Given the description of an element on the screen output the (x, y) to click on. 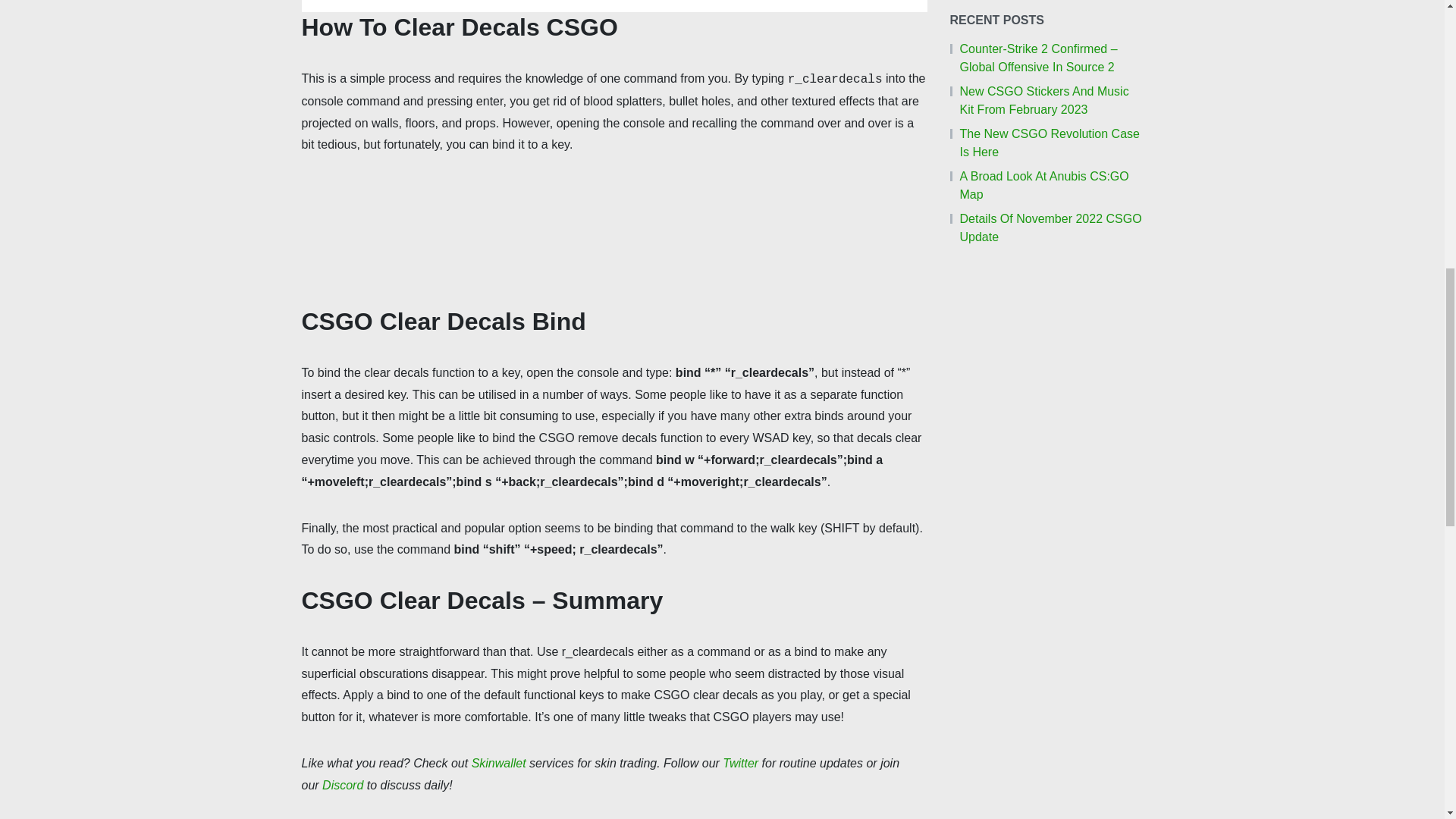
Twitter (740, 762)
Skinwallet (498, 762)
Discord (341, 784)
